Given the description of an element on the screen output the (x, y) to click on. 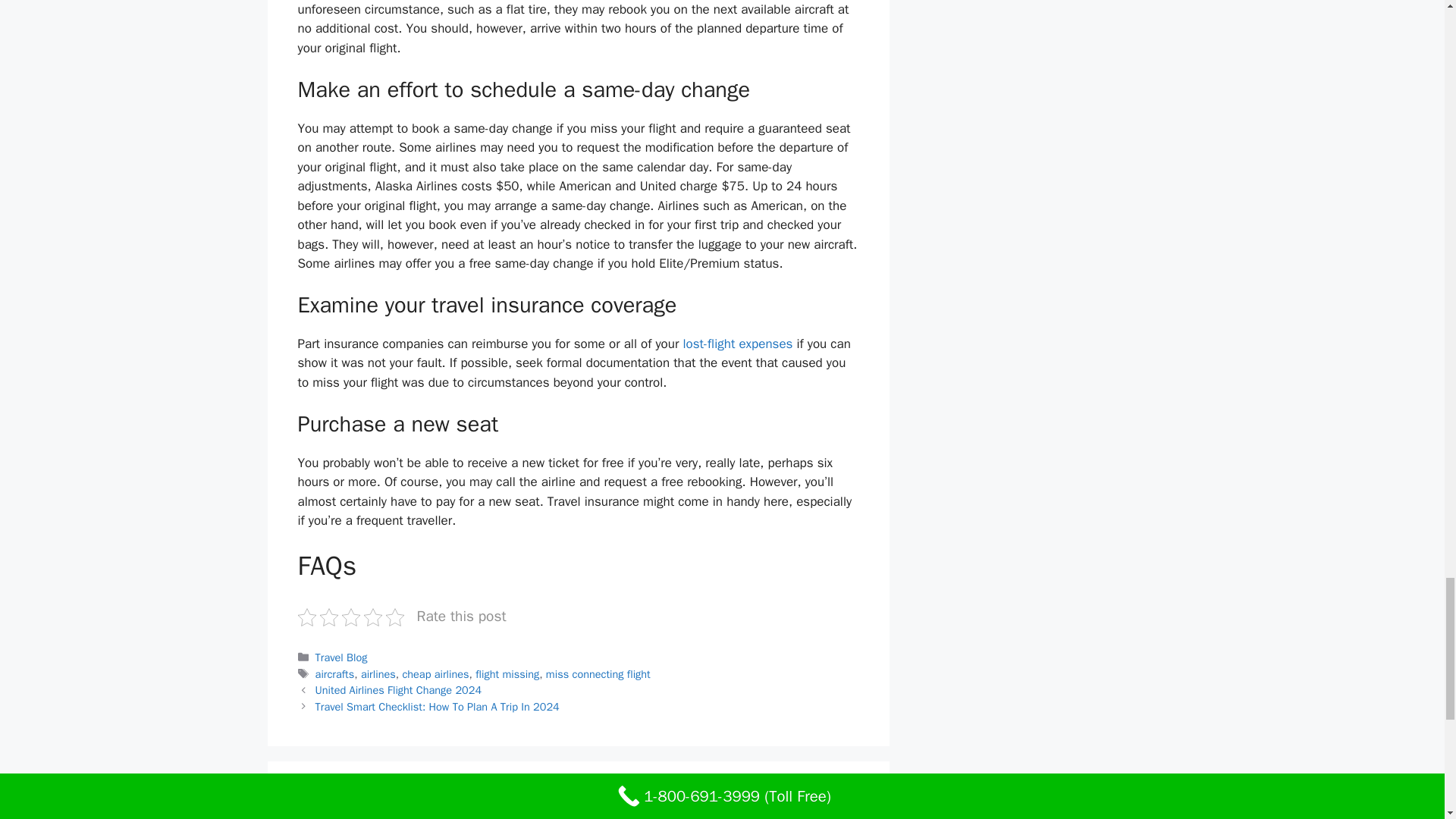
Travel Blog (341, 657)
flight missing (507, 673)
United Airlines Flight Change 2024 (398, 689)
aircrafts (335, 673)
airlines (378, 673)
cheap airlines (434, 673)
miss connecting flight (598, 673)
lost-flight expenses (737, 343)
Travel Smart Checklist: How To Plan A Trip In 2024 (437, 706)
